Given the description of an element on the screen output the (x, y) to click on. 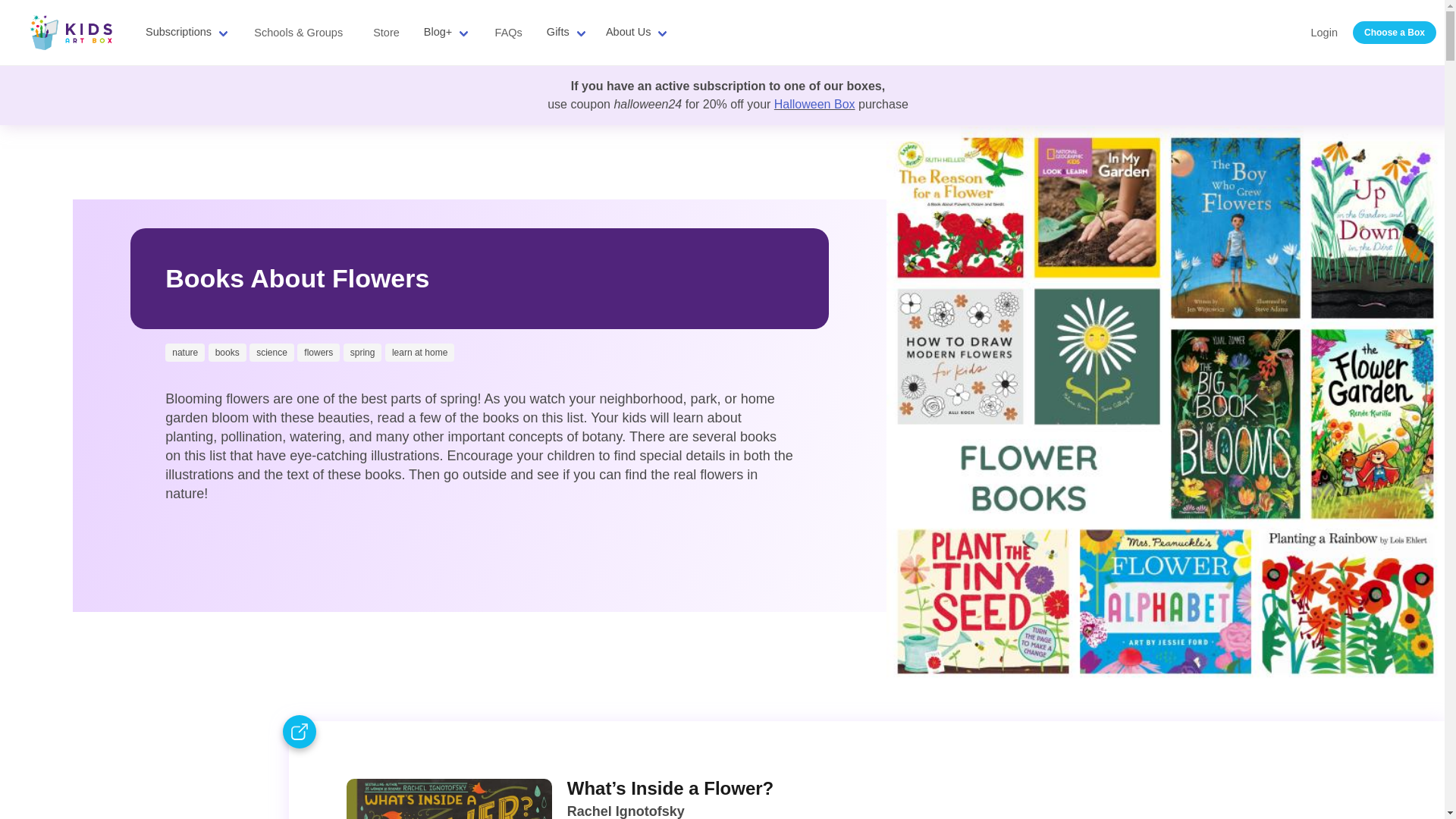
books (227, 352)
FAQs (508, 32)
Halloween Box (815, 103)
science (271, 352)
learn at home (419, 352)
nature (185, 352)
spring (362, 352)
flowers (318, 352)
Choose a Box (1393, 32)
Store (386, 32)
